Given the description of an element on the screen output the (x, y) to click on. 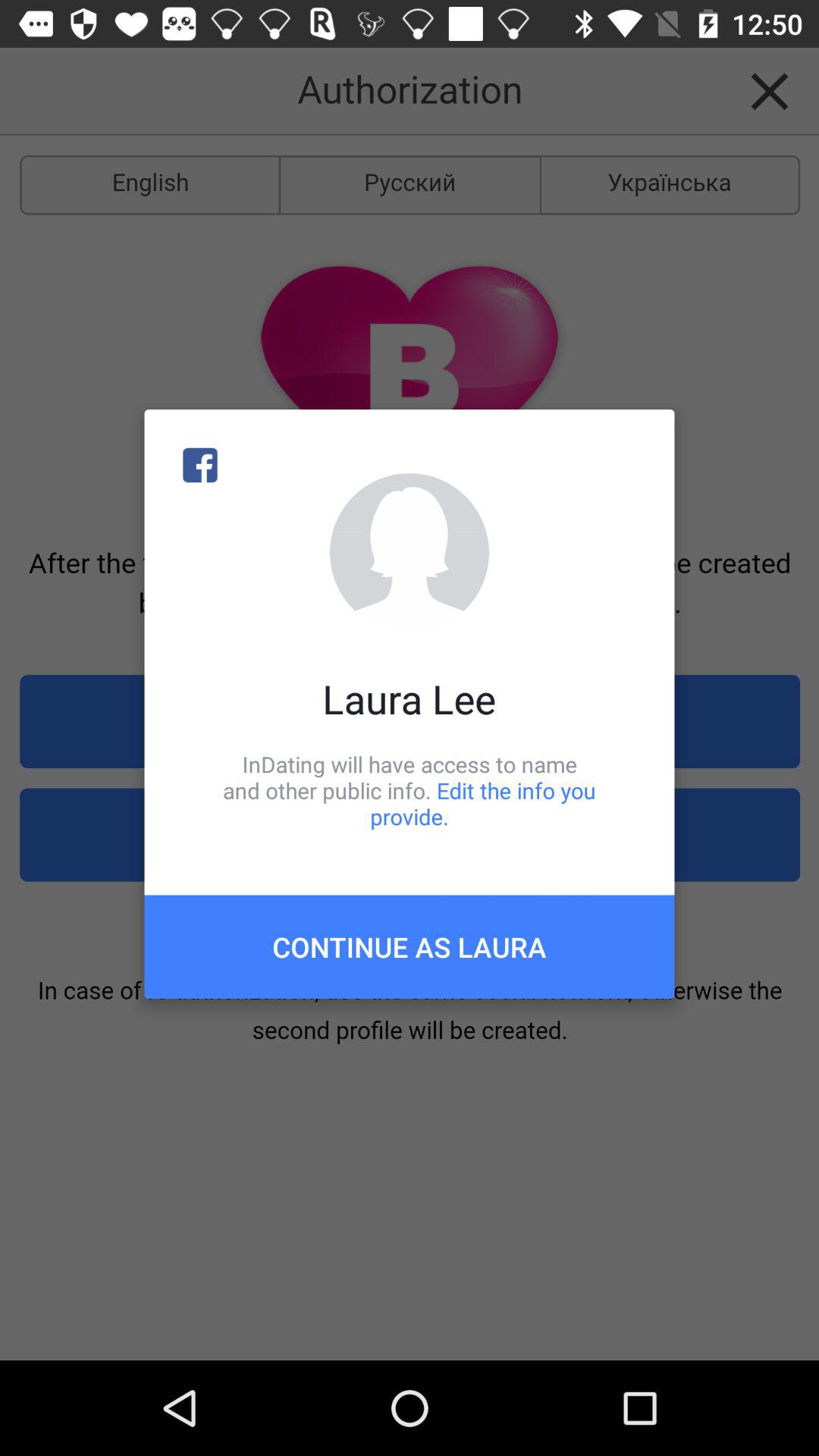
open icon below the indating will have item (409, 946)
